Given the description of an element on the screen output the (x, y) to click on. 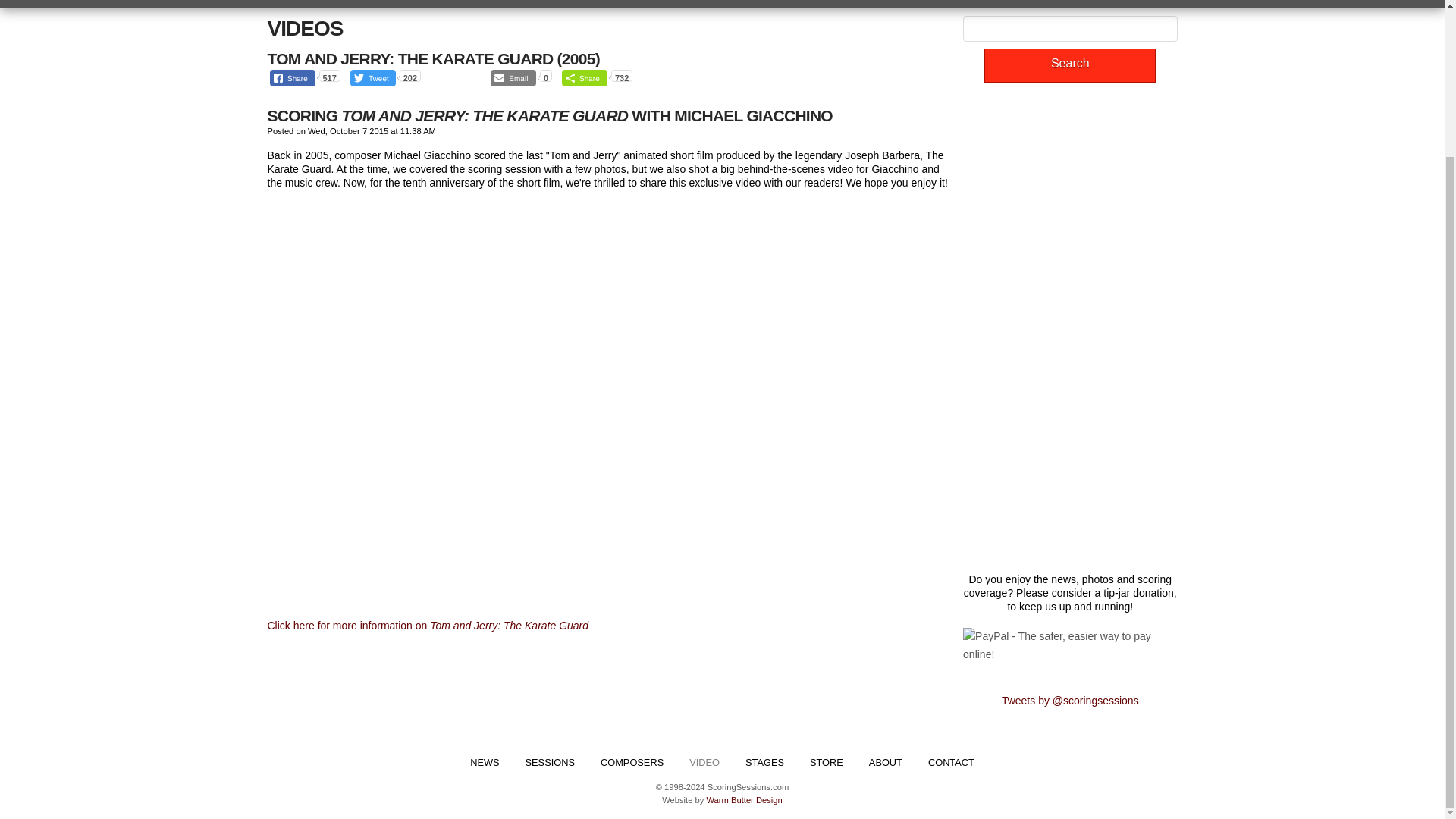
Search (1070, 65)
ABOUT (885, 763)
STAGES (764, 763)
VIDEOS (304, 28)
COMPOSERS (632, 763)
Warm Butter Design (743, 799)
CONTACT (951, 763)
STORE (826, 763)
TOM AND JERRY: THE KARATE GUARD (409, 58)
Search (1070, 65)
